Given the description of an element on the screen output the (x, y) to click on. 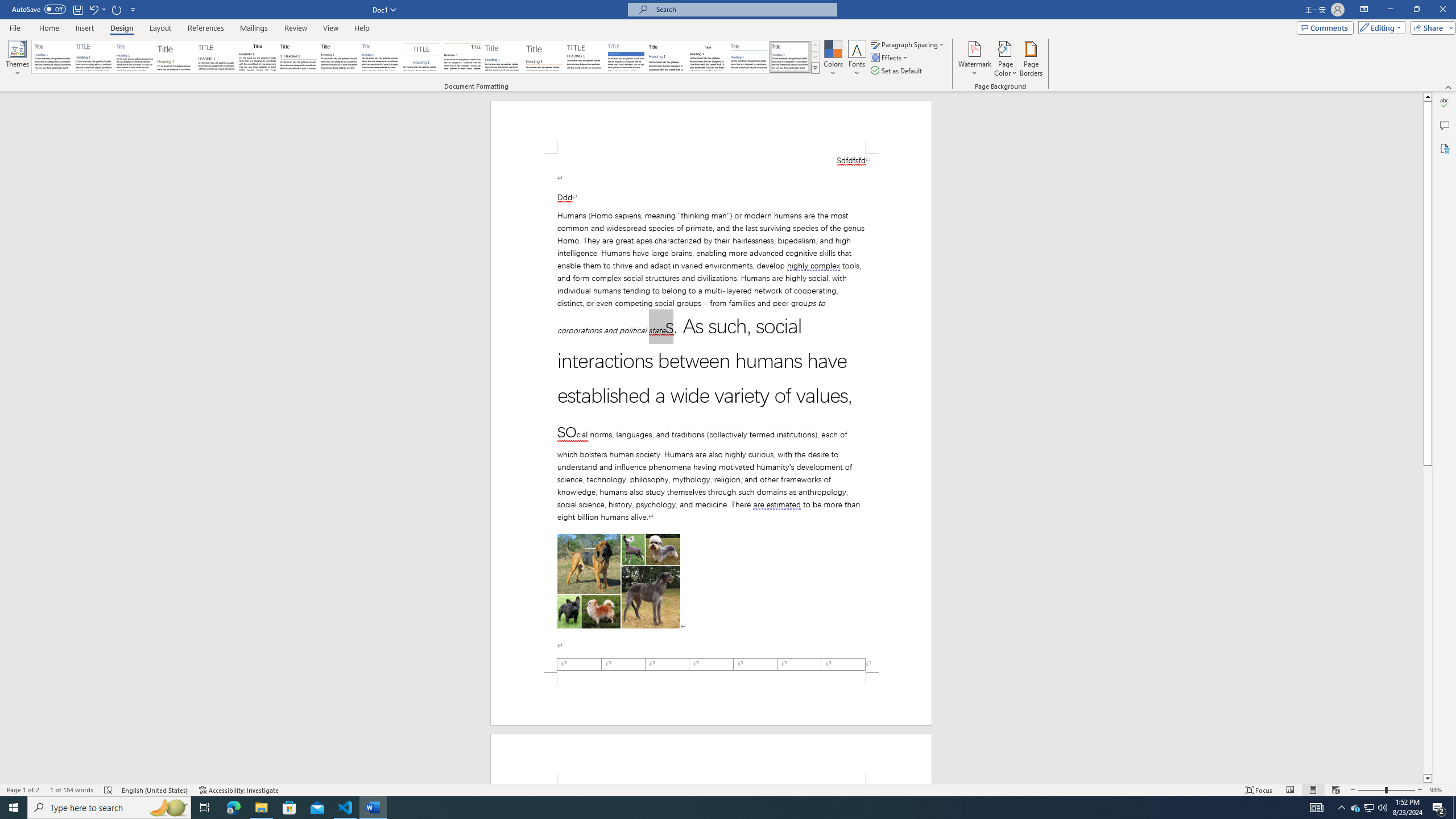
Collapse the Ribbon (1448, 86)
System (6, 6)
Spelling and Grammar Check Errors (108, 790)
System (6, 6)
Mailings (253, 28)
Lines (Distinctive) (462, 56)
Document (52, 56)
Footer -Section 1- (710, 698)
Casual (379, 56)
Effects (890, 56)
Design (122, 28)
Page Color (1005, 58)
Layout (160, 28)
Ribbon Display Options (1364, 9)
